Given the description of an element on the screen output the (x, y) to click on. 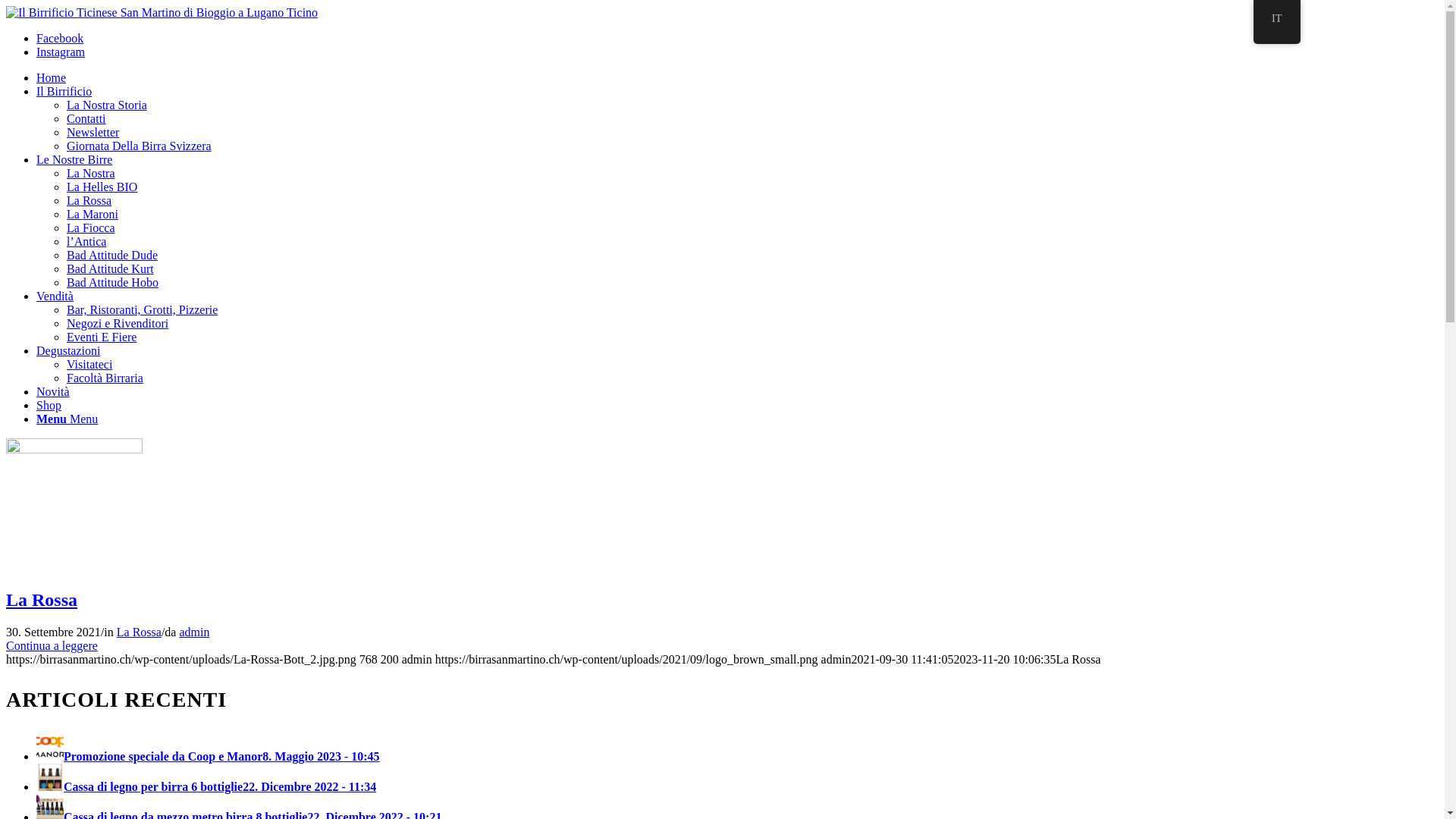
San Martino La Rossa Element type: hover (74, 448)
Bad Attitude Hobo Element type: text (112, 282)
Promozione speciale da Coop e Manor8. Maggio 2023 - 10:45 Element type: text (207, 755)
IT Element type: text (1276, 21)
Bad Attitude Kurt Element type: text (109, 268)
La Nostra Storia Element type: text (106, 104)
admin Element type: text (193, 631)
Shop Element type: text (48, 404)
IT Element type: text (1276, 18)
Instagram Element type: text (60, 51)
Giornata Della Birra Svizzera Element type: text (138, 145)
Negozi e Rivenditori Element type: text (117, 322)
Contatti Element type: text (86, 118)
Bar, Ristoranti, Grotti, Pizzerie Element type: text (141, 309)
La Rossa Element type: text (138, 631)
Eventi E Fiere Element type: text (101, 336)
La Maroni Element type: text (92, 213)
La Fiocca Element type: text (90, 227)
Facebook Element type: text (59, 37)
Birrificio San Martino Element type: hover (161, 12)
Visitateci Element type: text (89, 363)
Bad Attitude Dude Element type: text (111, 254)
La Helles BIO Element type: text (101, 186)
La Rossa Element type: text (41, 599)
Le Nostre Birre Element type: text (74, 159)
Degustazioni Element type: text (68, 350)
La Nostra Element type: text (90, 172)
Il Birrificio Element type: text (63, 90)
Menu Menu Element type: text (66, 418)
La Rossa Element type: text (88, 200)
Newsletter Element type: text (92, 131)
Continua a leggere Element type: text (51, 645)
Home Element type: text (50, 77)
